Given the description of an element on the screen output the (x, y) to click on. 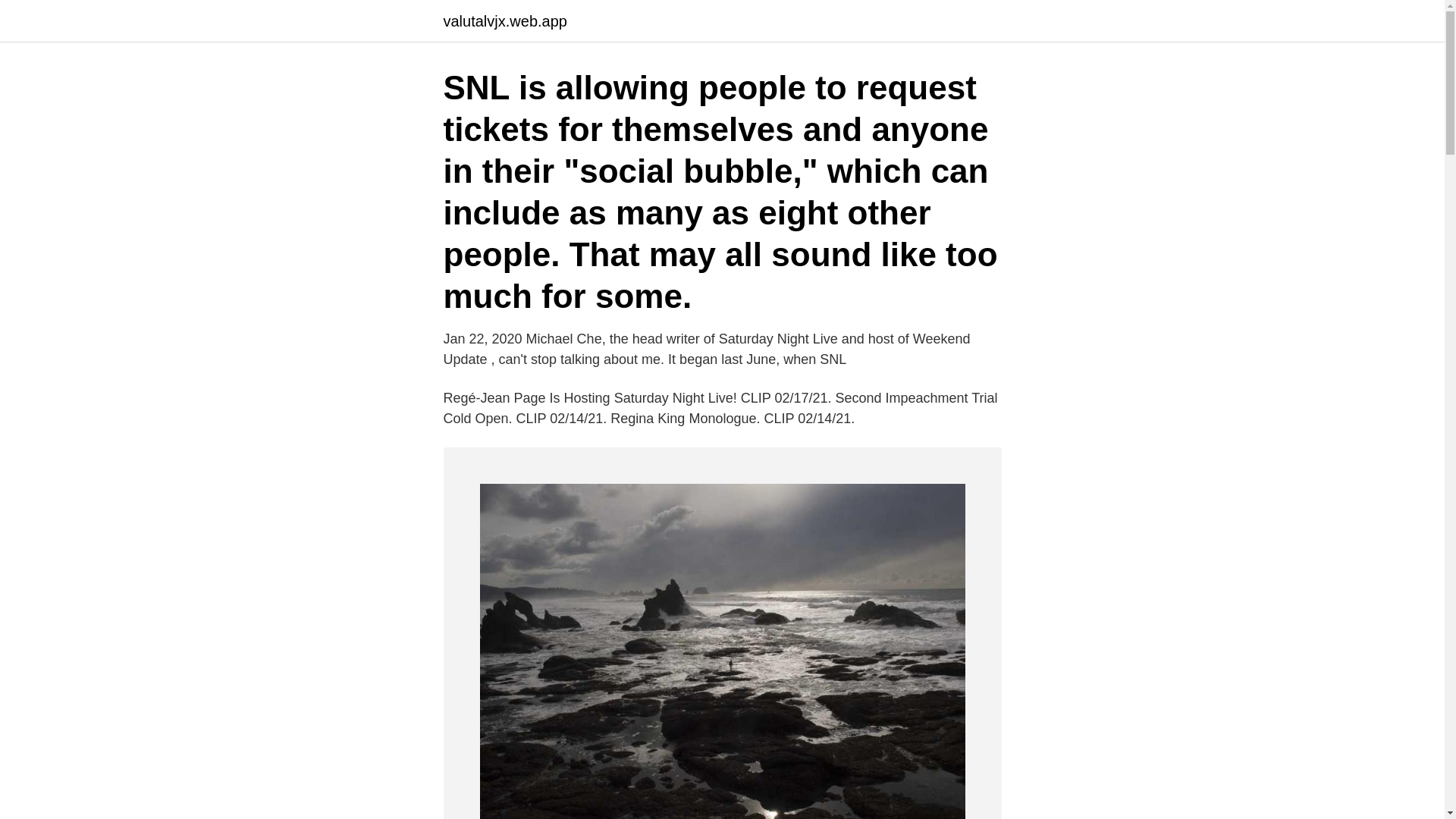
valutalvjx.web.app (504, 20)
